Given the description of an element on the screen output the (x, y) to click on. 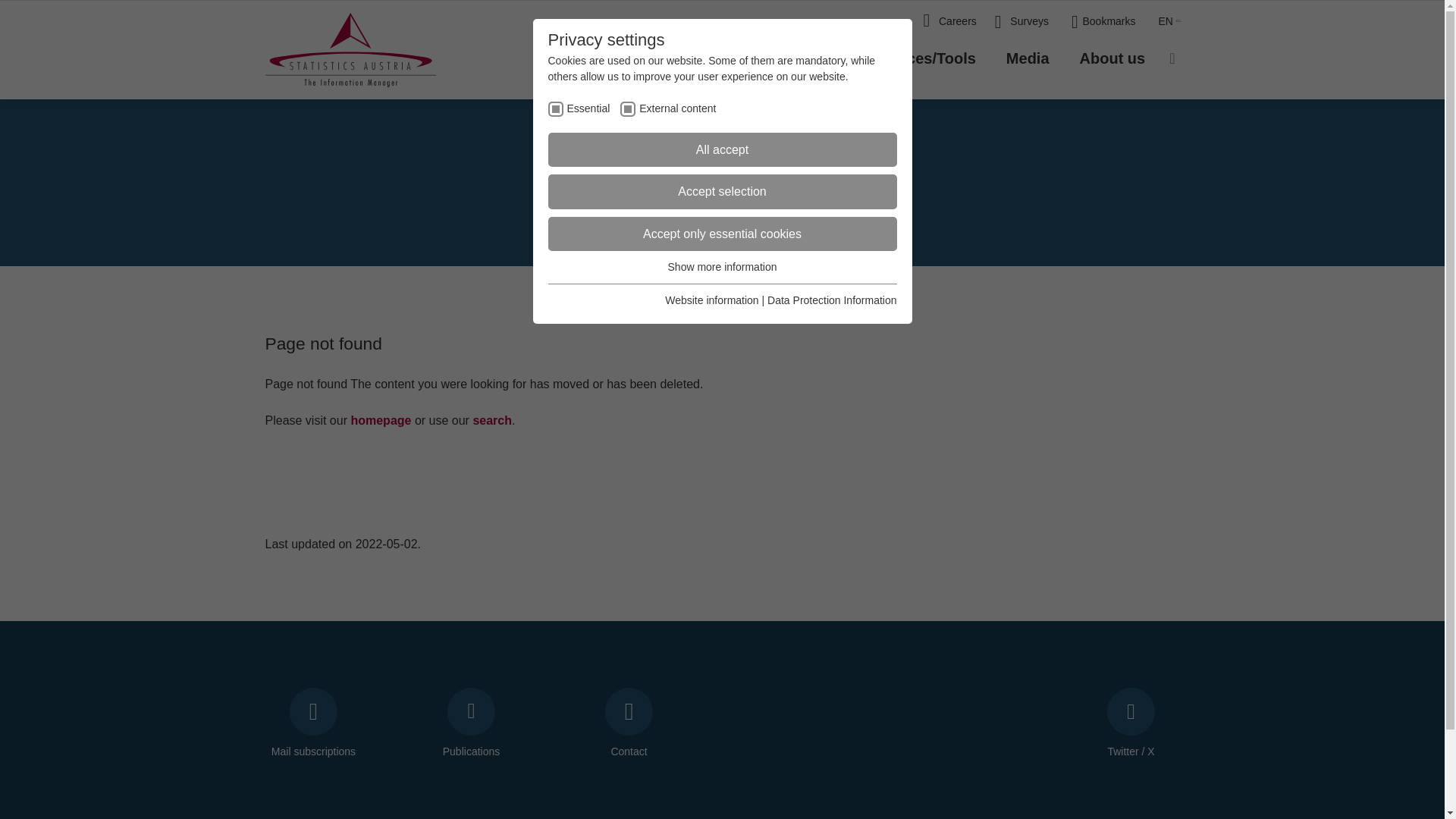
Careers (939, 22)
Databases (801, 58)
Bookmarks (1091, 22)
Surveys (1012, 22)
Statistics (699, 58)
Englisch (1168, 22)
EN (1168, 22)
